Given the description of an element on the screen output the (x, y) to click on. 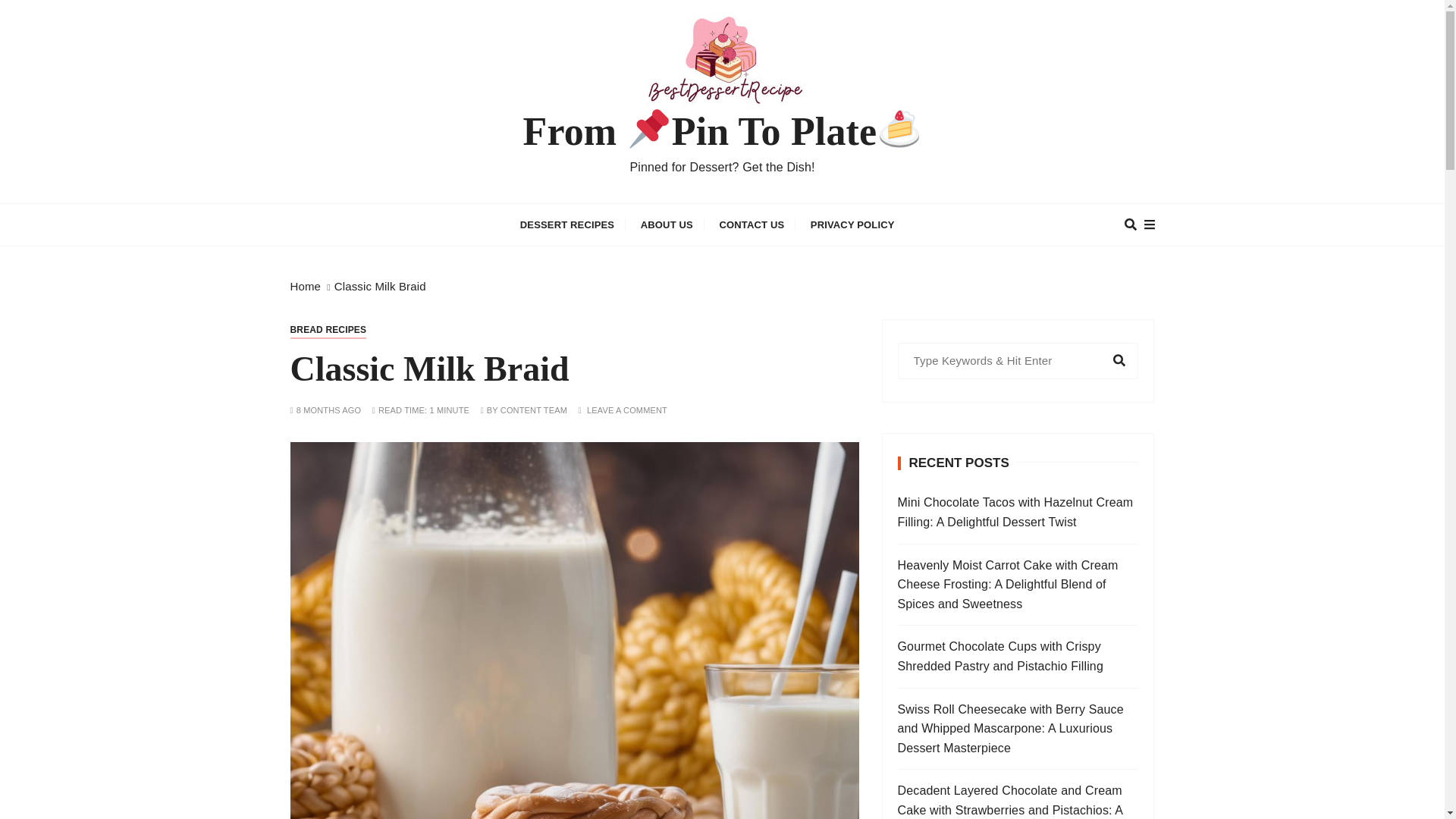
ABOUT US (666, 224)
CONTENT TEAM (533, 410)
LEAVE A COMMENT (626, 410)
PRIVACY POLICY (852, 224)
DESSERT RECIPES (567, 224)
BREAD RECIPES (327, 330)
Classic Milk Braid (380, 286)
Home (304, 286)
CONTACT US (750, 224)
From Pin To Plate (721, 132)
